Given the description of an element on the screen output the (x, y) to click on. 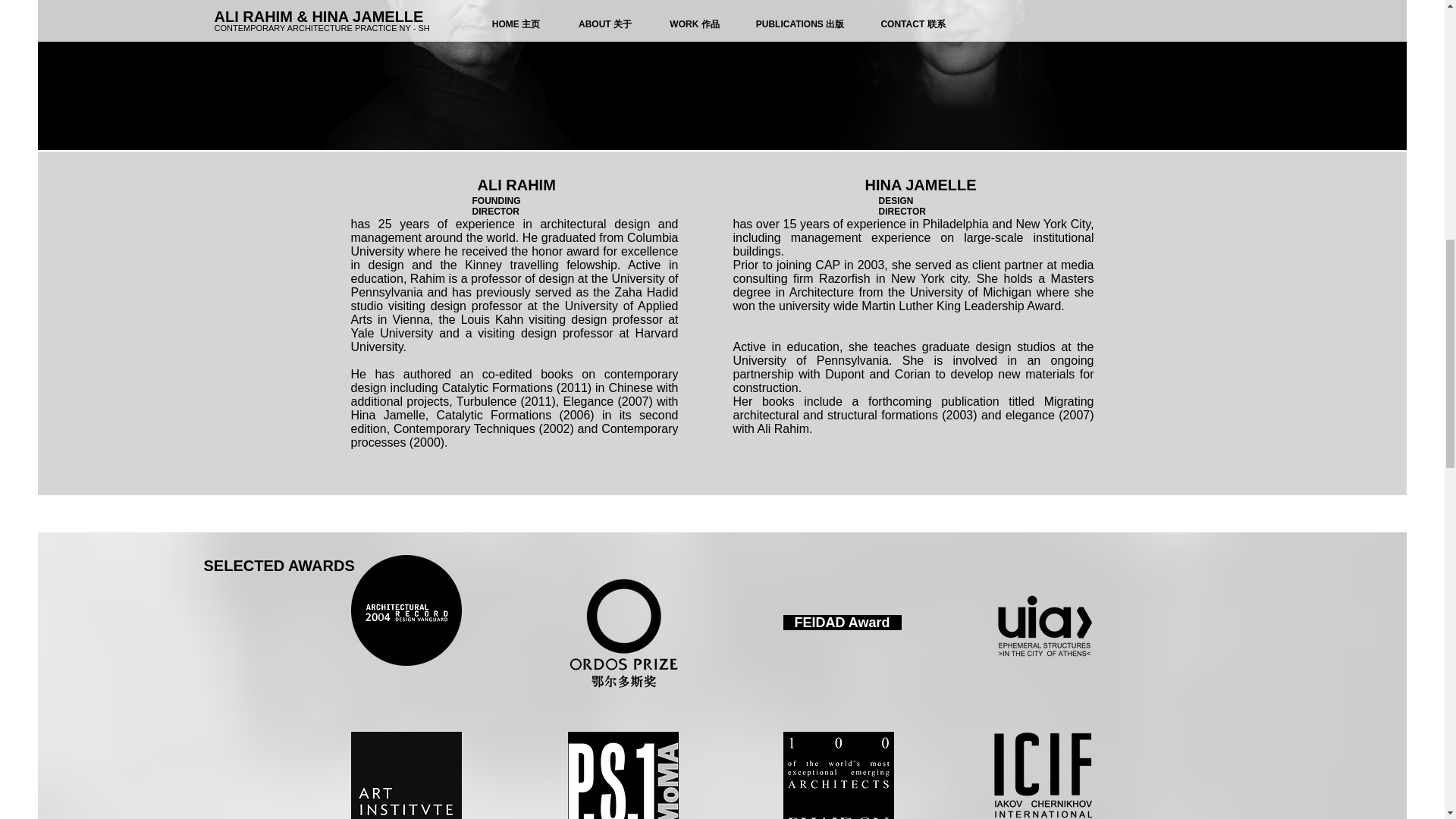
HINA JAMELLE (919, 184)
ALI RAHIM (516, 184)
SELECTED AWARDS (278, 565)
